Given the description of an element on the screen output the (x, y) to click on. 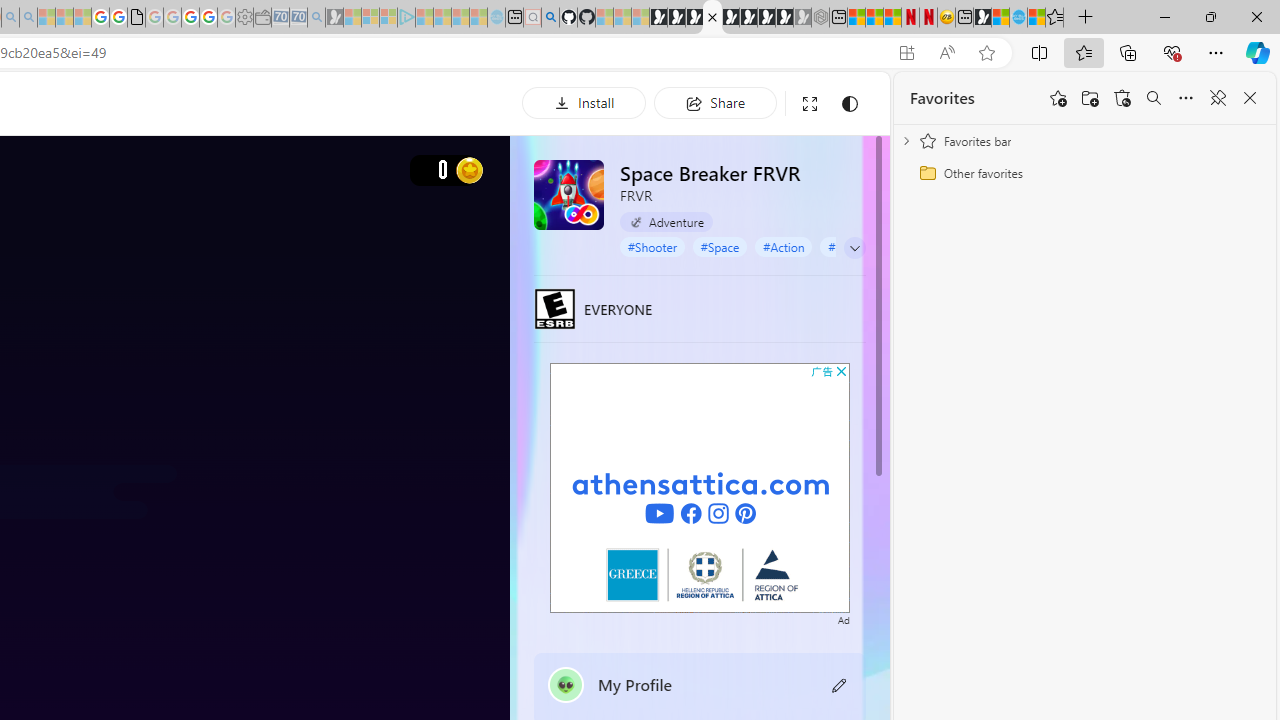
Microsoft account | Privacy - Sleeping (388, 17)
Wallet - Sleeping (262, 17)
World - MSN (1000, 17)
Close favorites (1250, 98)
Change to dark mode (849, 103)
Add folder (1089, 98)
